Given the description of an element on the screen output the (x, y) to click on. 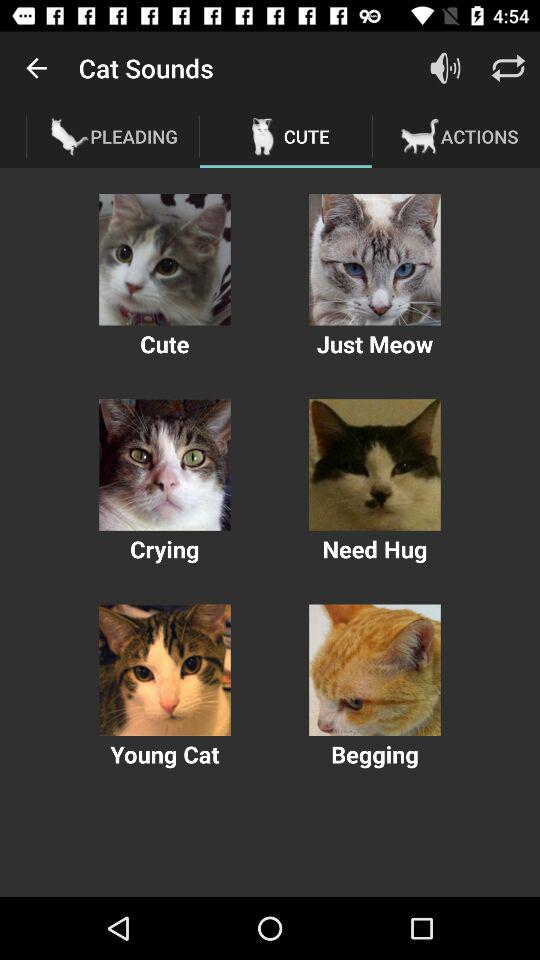
open icon to the right of cute icon (444, 67)
